Given the description of an element on the screen output the (x, y) to click on. 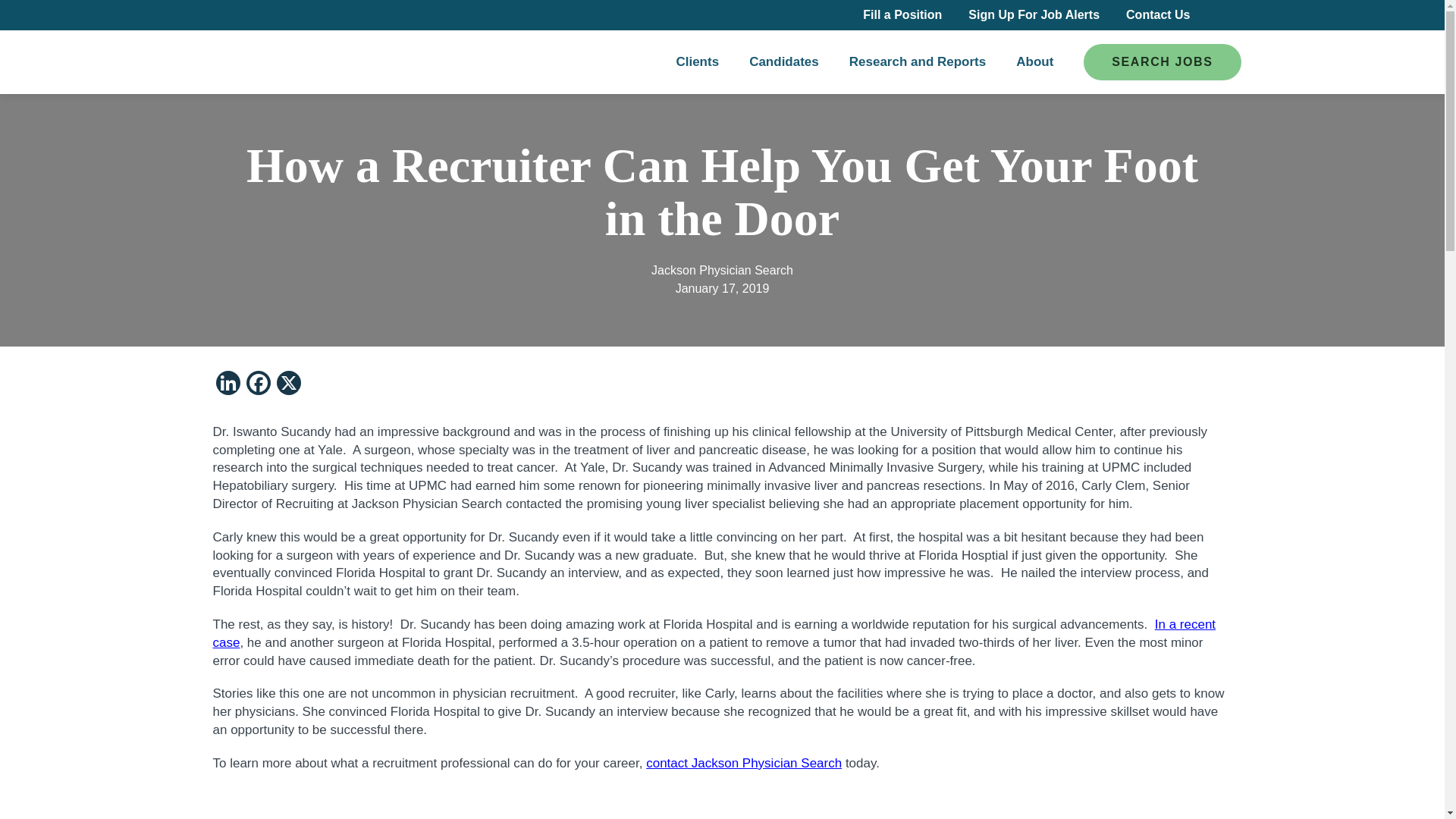
About (1034, 61)
Contact Us (1157, 14)
X (287, 384)
Facebook (258, 384)
Sign Up For Job Alerts (1033, 14)
Search (1223, 14)
Fill a Position (902, 14)
LinkedIn (227, 384)
Research and Reports (916, 61)
Clients (697, 61)
